Given the description of an element on the screen output the (x, y) to click on. 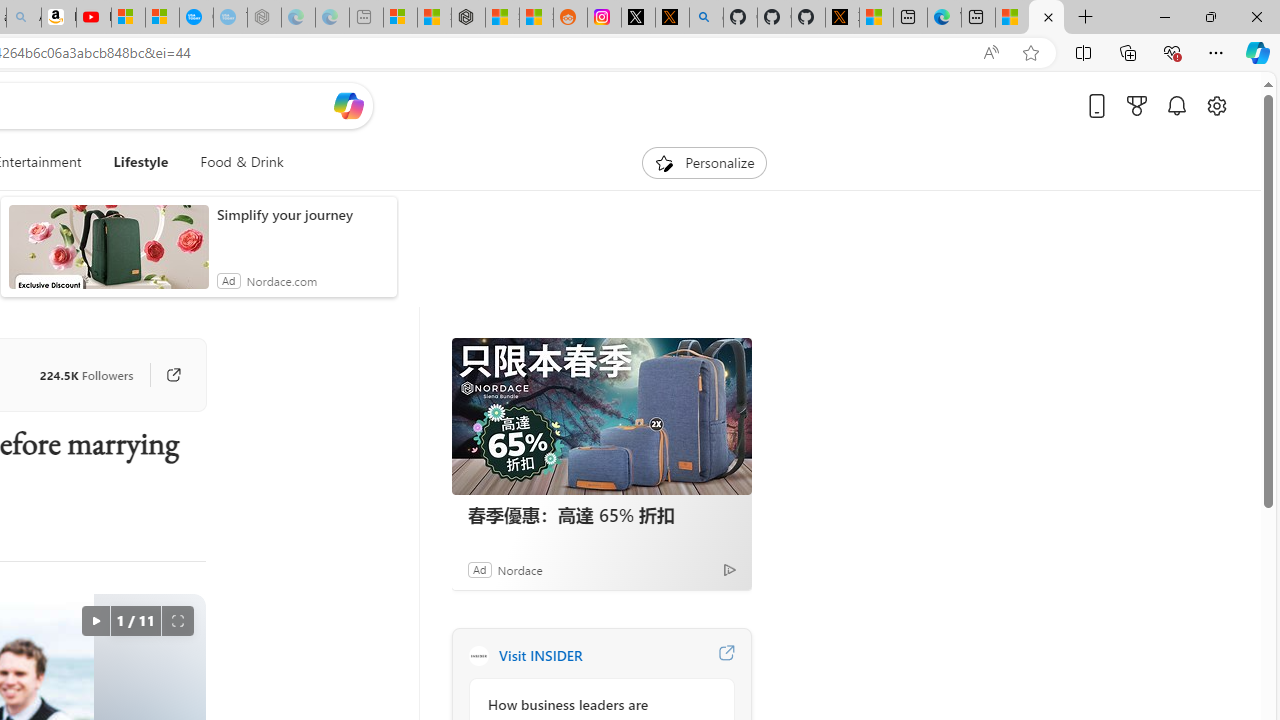
The most popular Google 'how to' searches - Sleeping (230, 17)
Welcome to Microsoft Edge (944, 17)
Visit INSIDER website (726, 655)
Microsoft rewards (1137, 105)
X Privacy Policy (841, 17)
Log in to X / X (638, 17)
Day 1: Arriving in Yemen (surreal to be here) - YouTube (93, 17)
github - Search (706, 17)
